Given the description of an element on the screen output the (x, y) to click on. 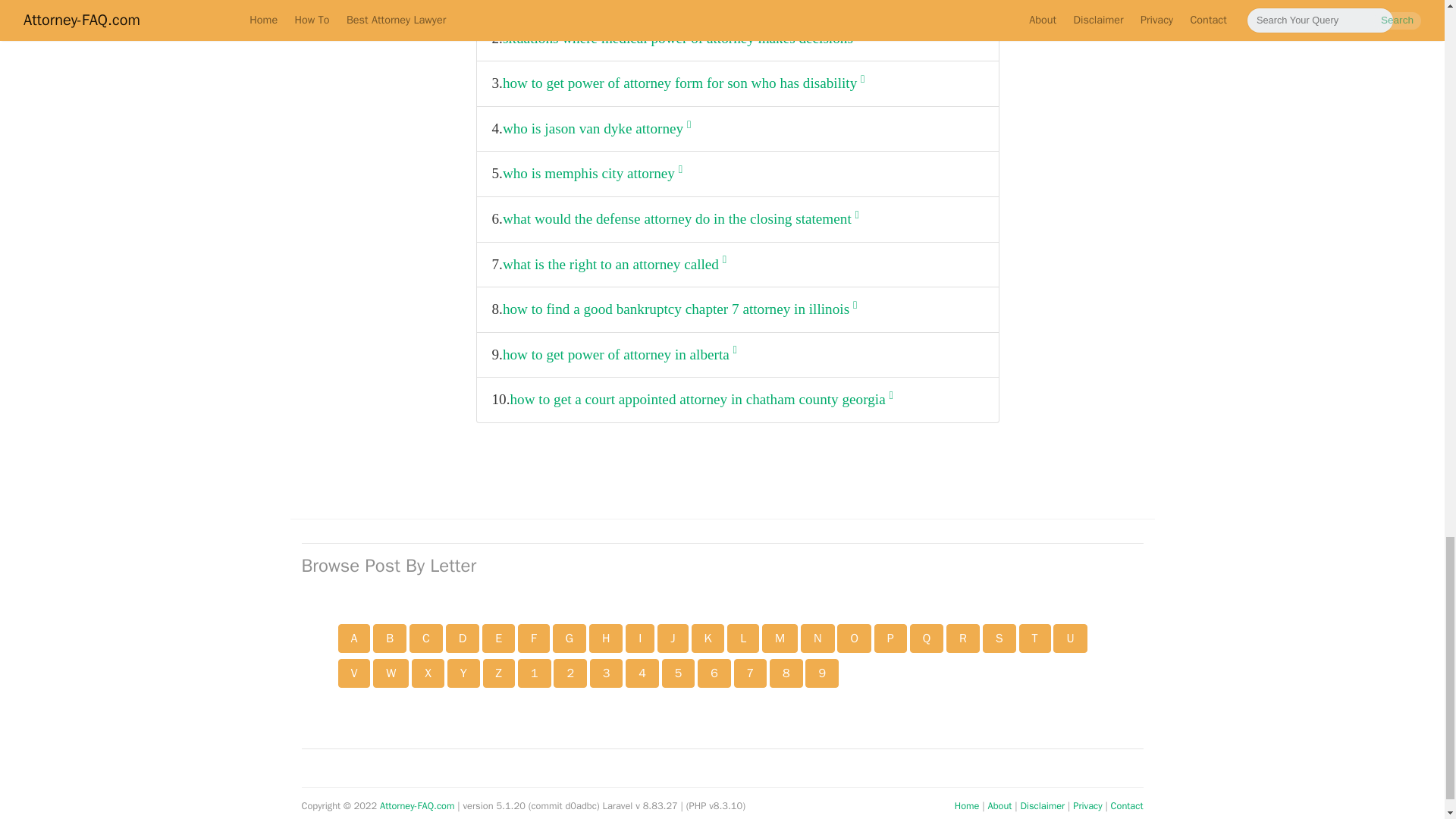
who is memphis city attorney (592, 173)
who is jason van dyke attorney (596, 129)
situations where medical power of attorney makes decisions (681, 38)
M (779, 638)
I (639, 638)
how to get power of attorney in alberta (619, 355)
G (568, 638)
what would the defense attorney do in the closing statement (680, 219)
what is the right to an attorney called (614, 264)
what would the defense attorney do in the closing statement (680, 219)
B (389, 638)
O (853, 638)
A (354, 638)
P (891, 638)
